Given the description of an element on the screen output the (x, y) to click on. 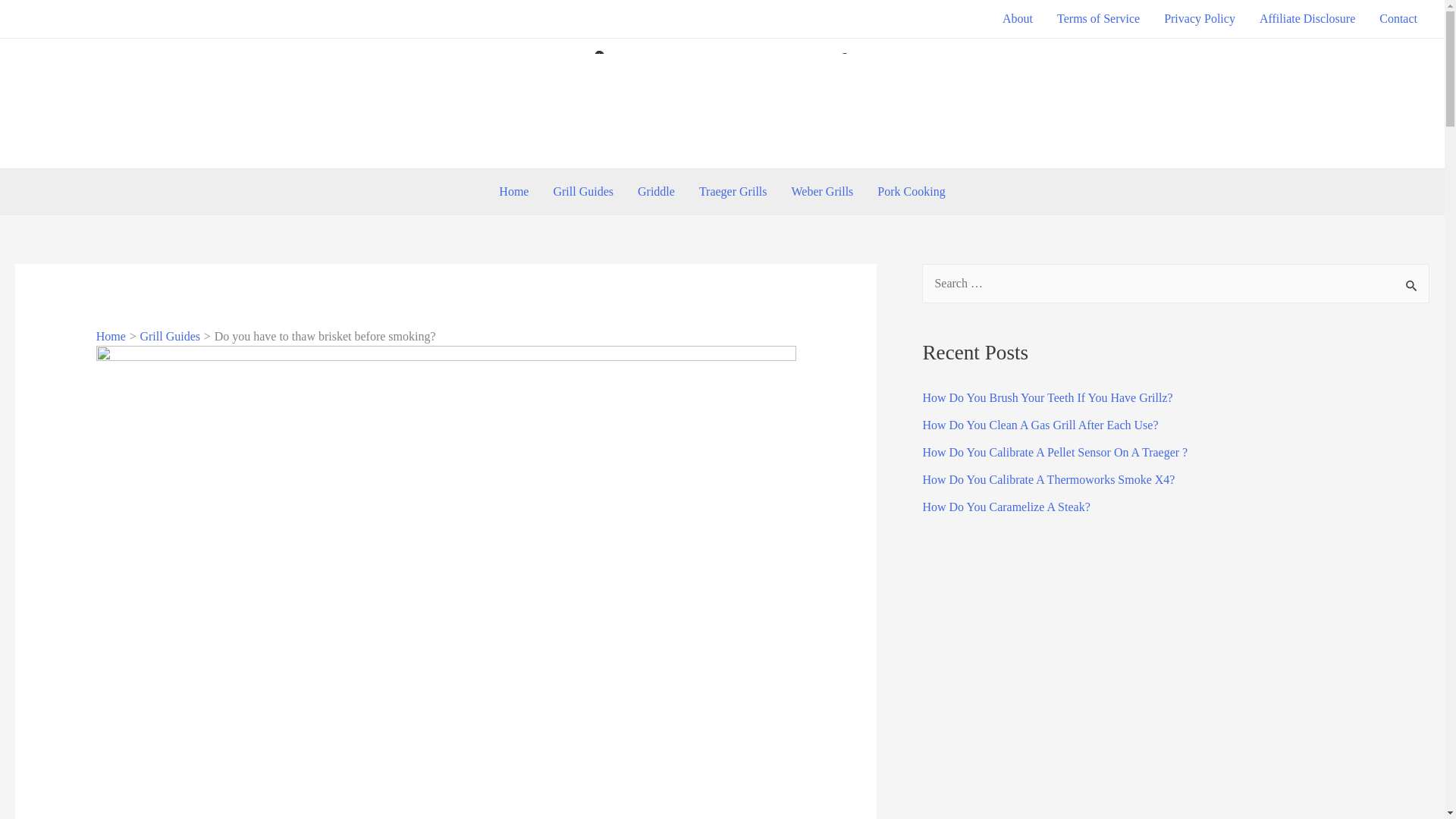
Search (1411, 284)
Grill Guides (583, 191)
Home (110, 336)
Home (513, 191)
Contact (1398, 18)
Affiliate Disclosure (1307, 18)
Grill Guides (169, 336)
Terms of Service (1098, 18)
Griddle (656, 191)
About (1017, 18)
Traeger Grills (732, 191)
Search (1411, 284)
Search (1411, 284)
Pork Cooking (910, 191)
Privacy Policy (1199, 18)
